Given the description of an element on the screen output the (x, y) to click on. 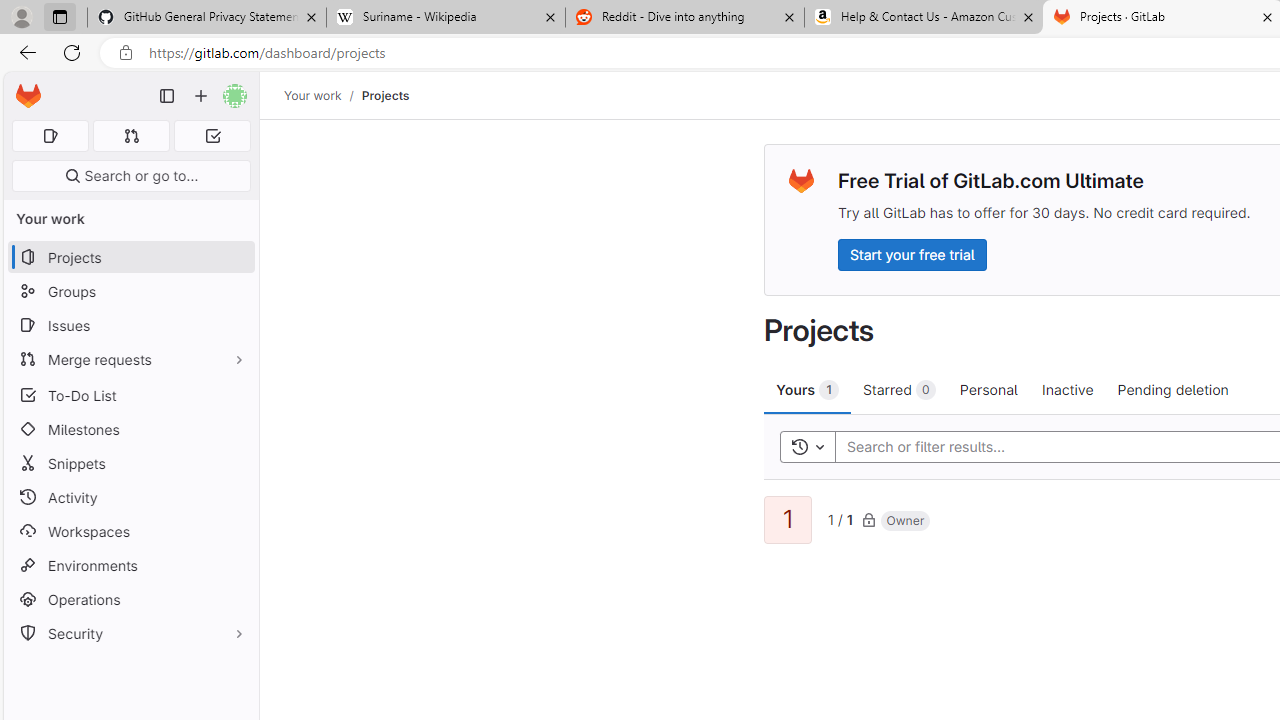
Personal (988, 389)
Operations (130, 599)
Projects (384, 95)
Your work/ (323, 95)
To-Do list 0 (212, 136)
Projects (384, 95)
Assigned issues 0 (50, 136)
Toggle history (807, 445)
Groups (130, 291)
Environments (130, 564)
1 / 1 (840, 518)
Activity (130, 497)
